Given the description of an element on the screen output the (x, y) to click on. 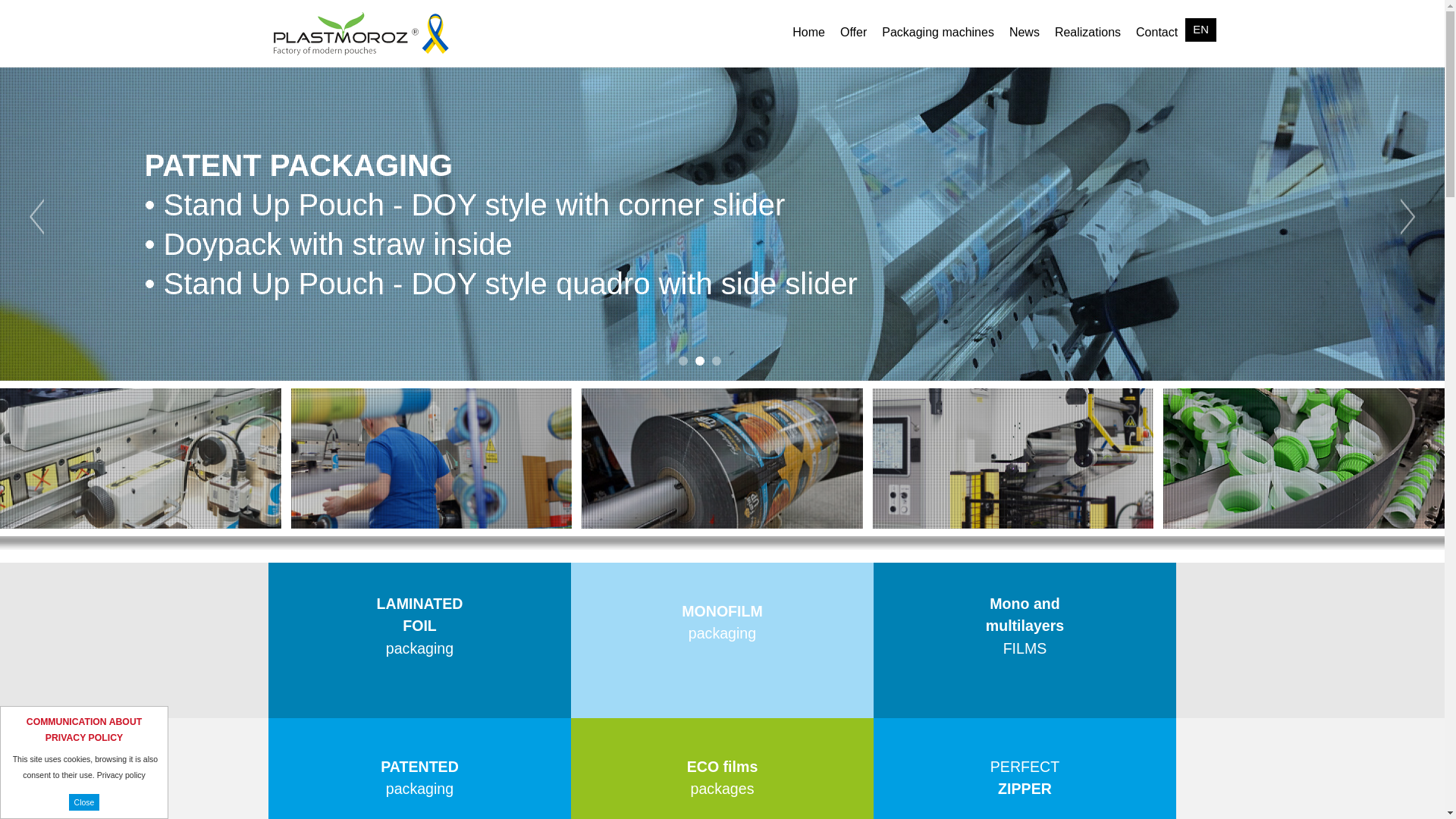
Next (1407, 216)
2 (699, 360)
EN (418, 759)
3 (1200, 29)
1 (1024, 759)
Contact (715, 360)
Previous (721, 759)
Packaging machines (682, 360)
Realizations (1156, 31)
Offer (36, 216)
Home (938, 31)
